Given the description of an element on the screen output the (x, y) to click on. 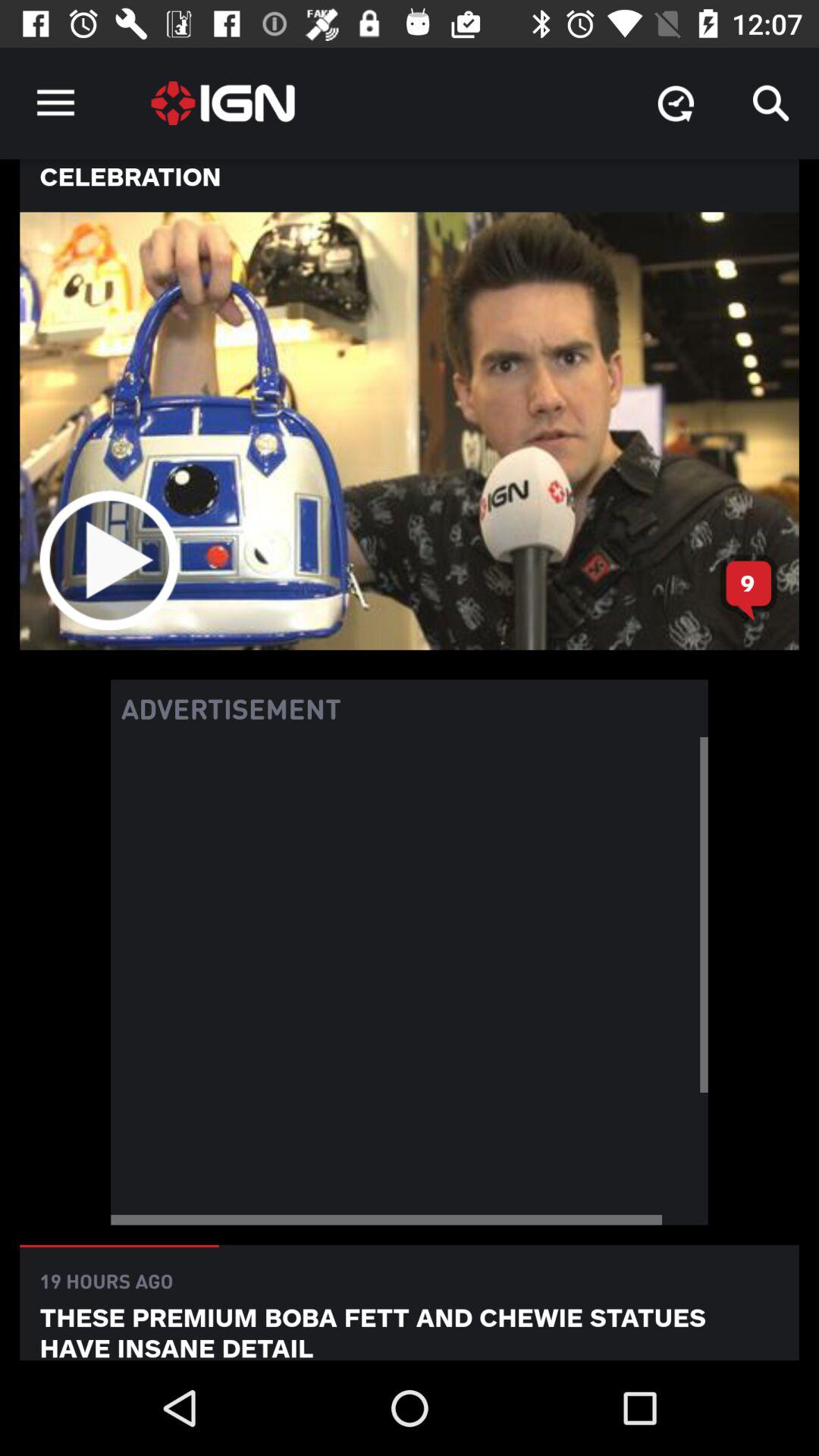
go to advertisement (409, 981)
